Given the description of an element on the screen output the (x, y) to click on. 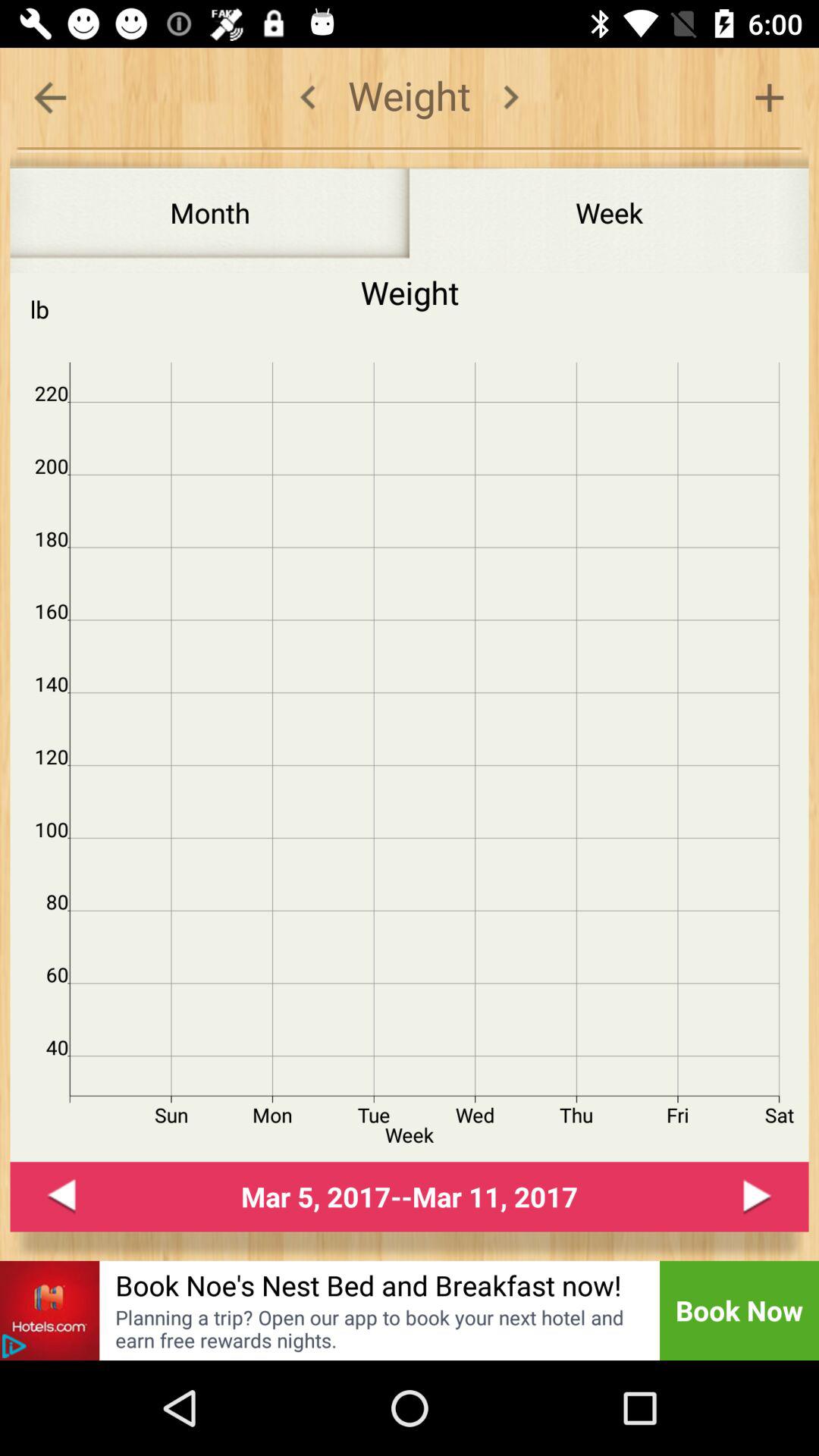
go to advertisement (49, 1310)
